Given the description of an element on the screen output the (x, y) to click on. 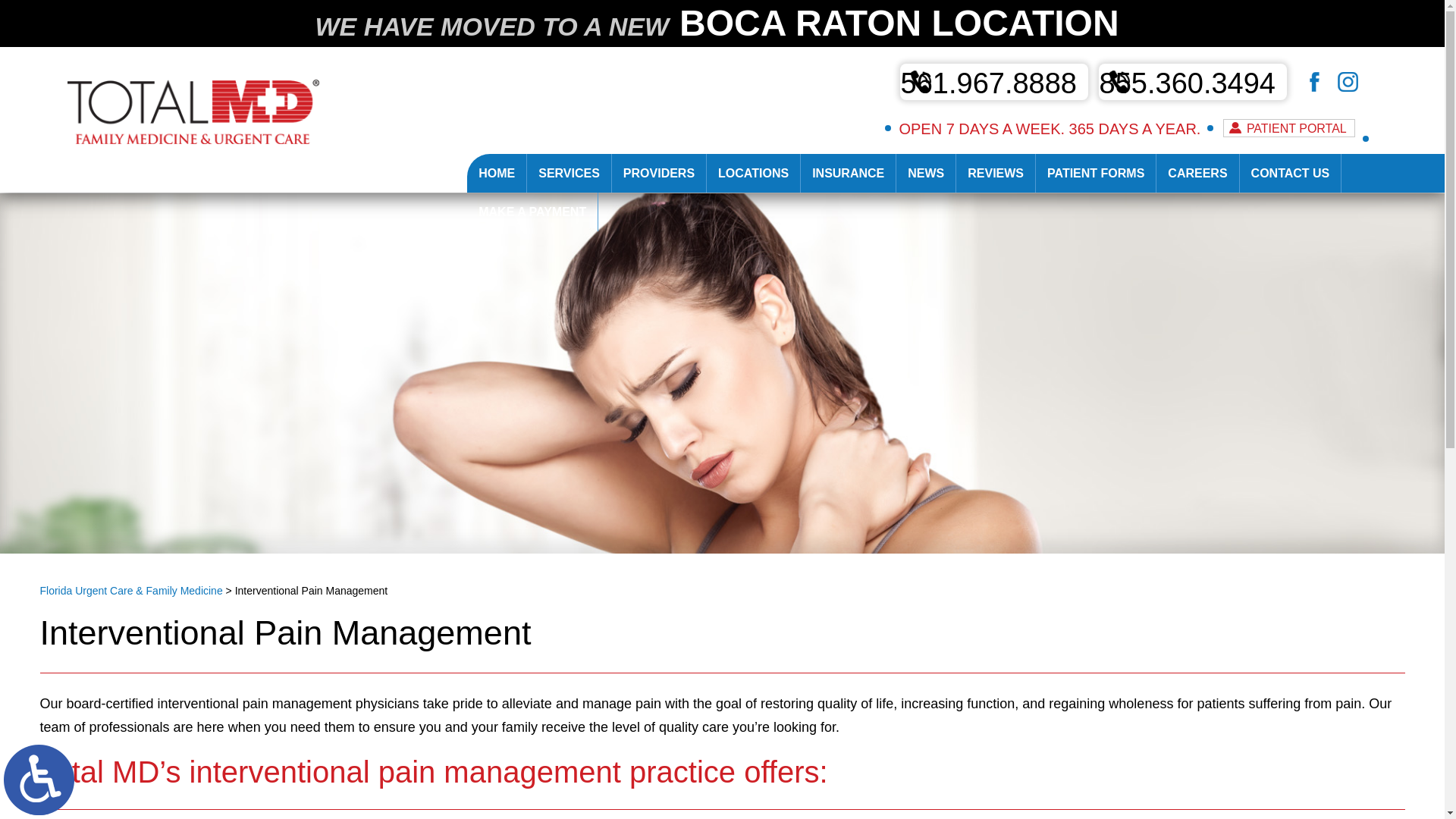
561-964-1111: West Palm Beach - Okeechobee (994, 116)
PROVIDERS (658, 172)
HOME (496, 172)
561.967.8888 (993, 81)
Instagram (1329, 92)
LOCATIONS (752, 172)
WE HAVE MOVED TO A NEWBOCA RATON LOCATION (721, 23)
Facebook (1337, 92)
PATIENT PORTAL (1289, 127)
855.360.3494 (1193, 81)
